Given the description of an element on the screen output the (x, y) to click on. 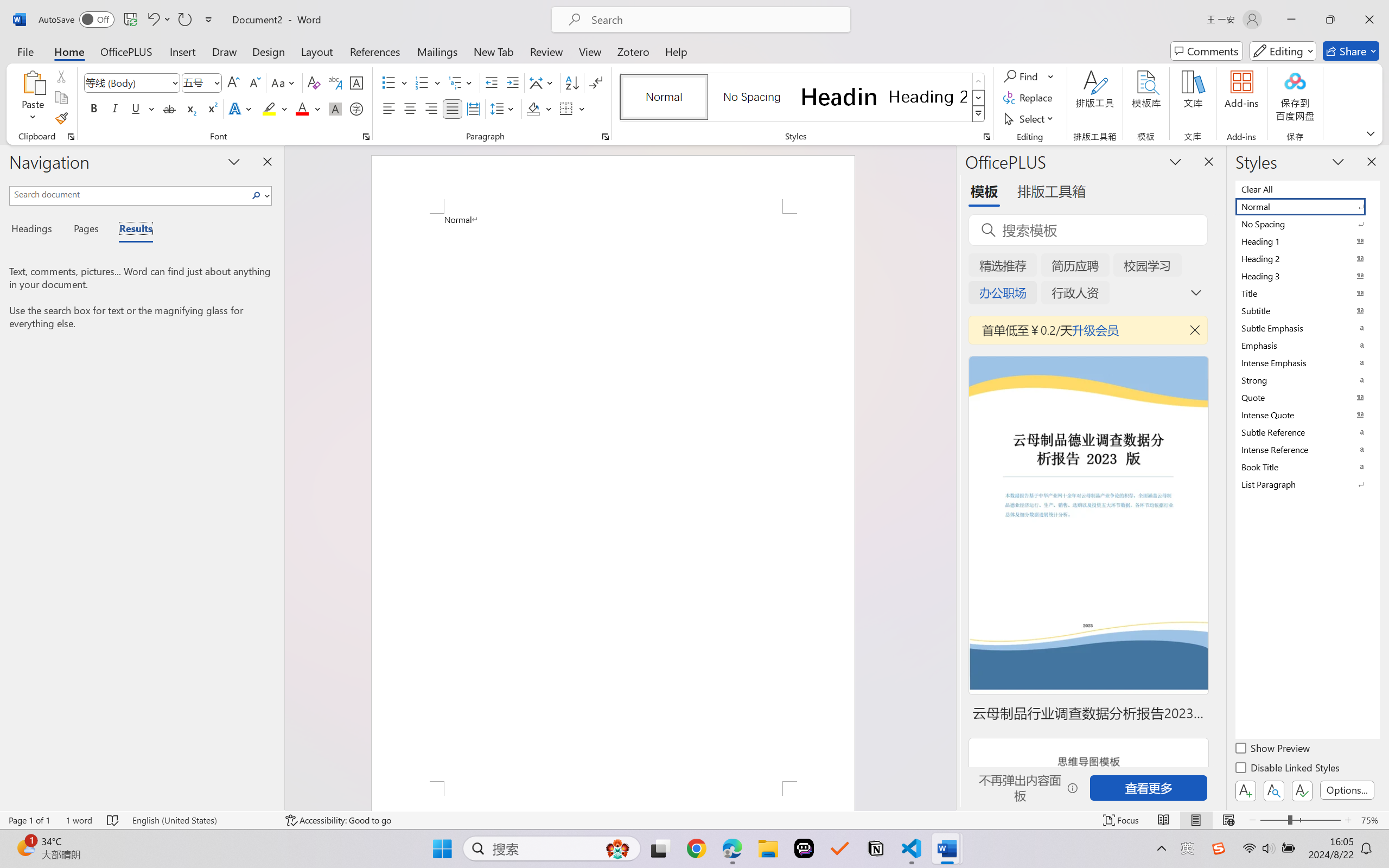
Results (130, 229)
Intense Reference (1306, 449)
Comments (1206, 50)
Options... (1346, 789)
